Given the description of an element on the screen output the (x, y) to click on. 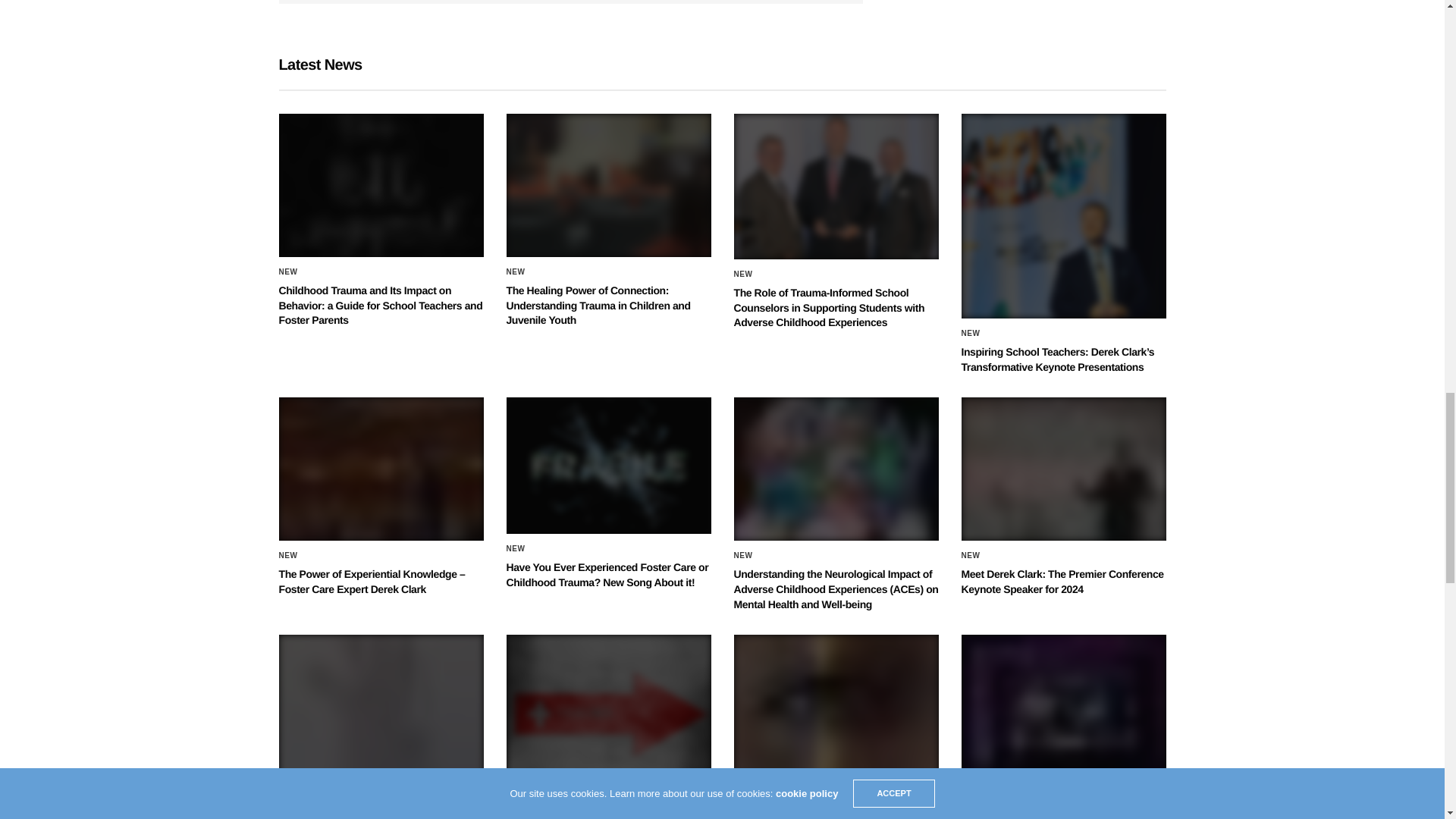
New (288, 272)
New (515, 272)
